Given the description of an element on the screen output the (x, y) to click on. 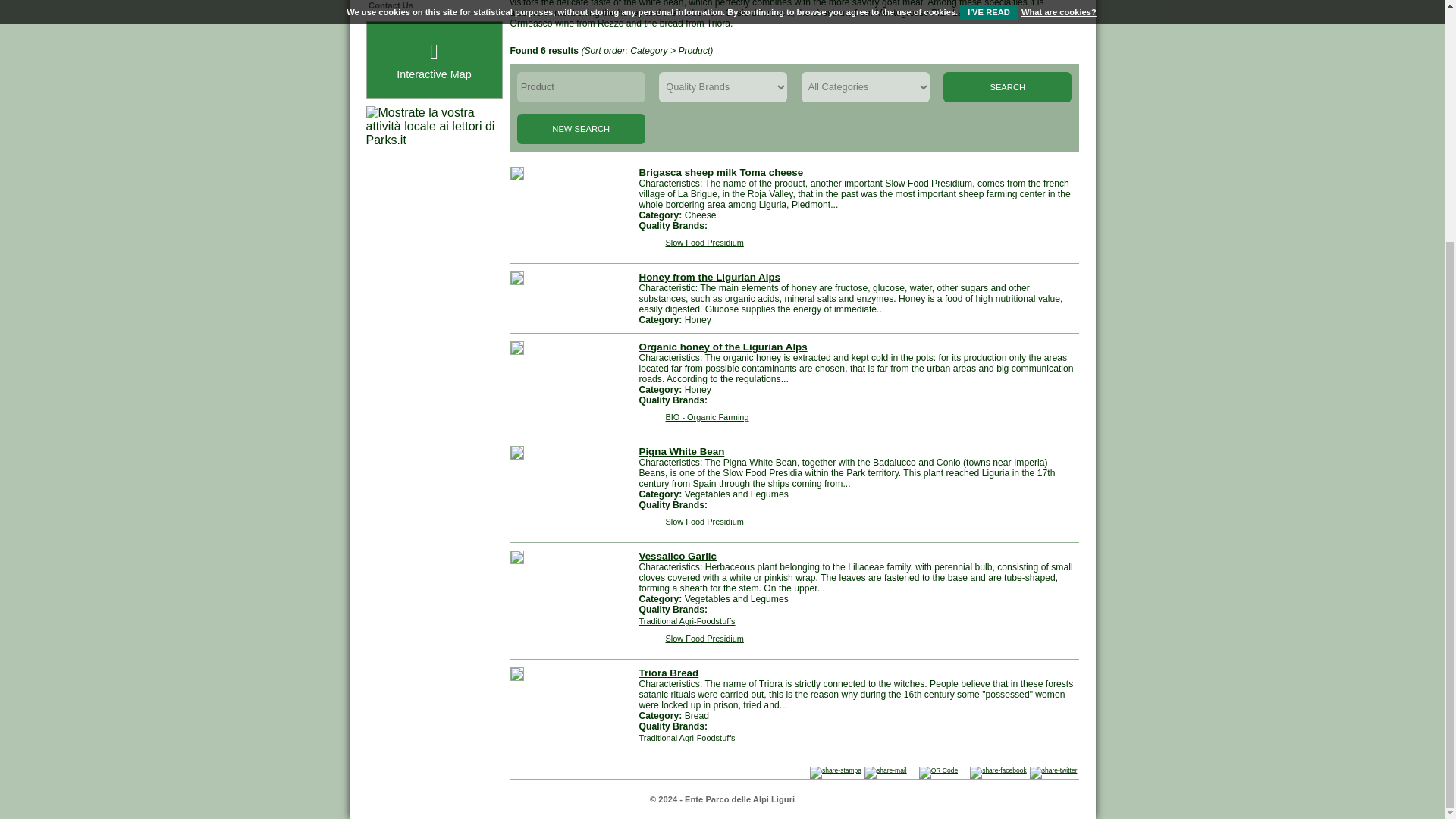
Search (1007, 87)
All Categories (866, 87)
New Search (580, 128)
 Slow Food Presidium (690, 241)
Contact Us (433, 6)
Quality Brands (723, 87)
Brigasca sheep milk Toma cheese (721, 172)
BIO - Organic Farming (693, 416)
Product (580, 87)
Product (580, 87)
